Given the description of an element on the screen output the (x, y) to click on. 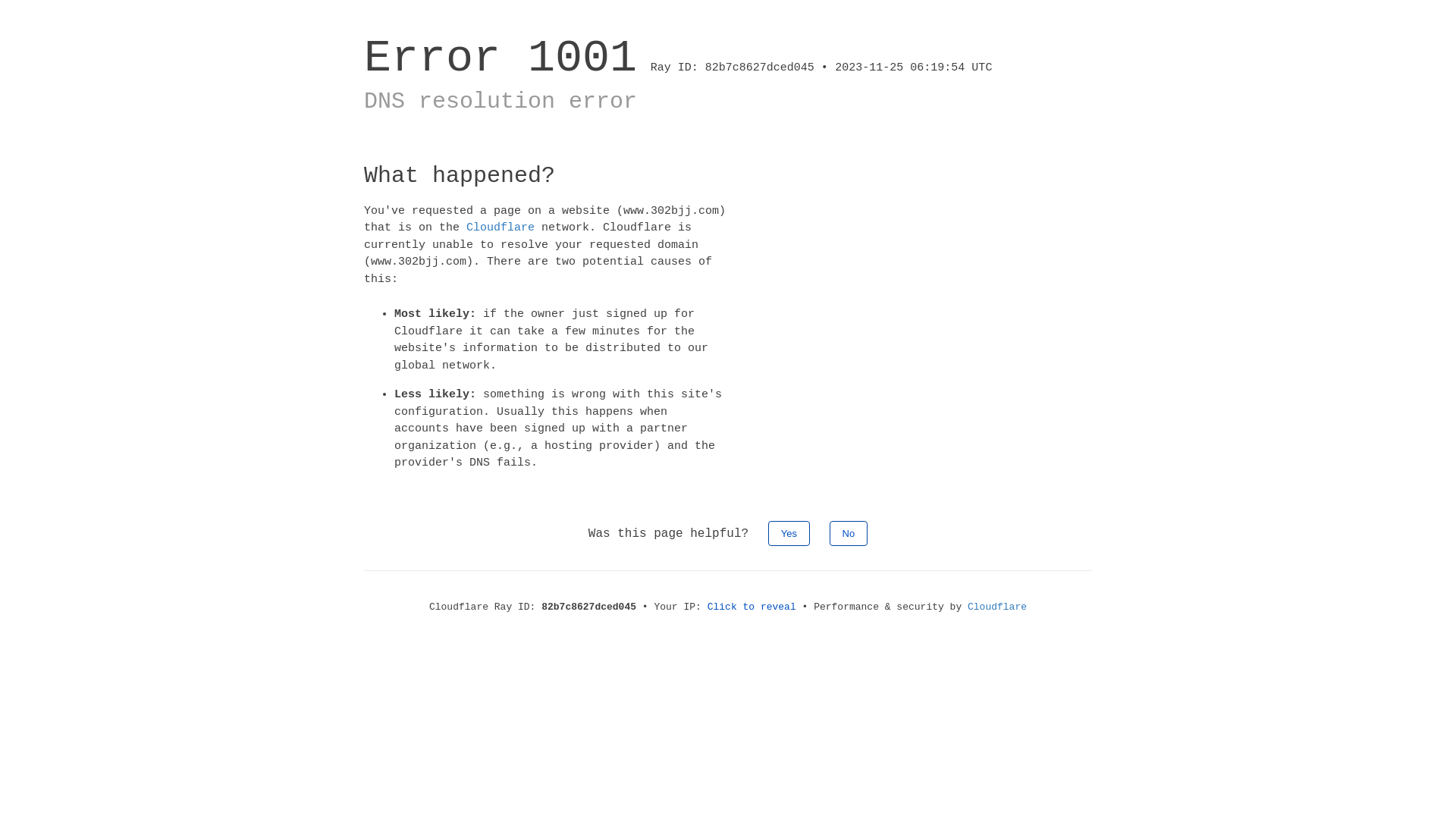
Cloudflare Element type: text (500, 227)
Click to reveal Element type: text (751, 605)
Cloudflare Element type: text (996, 605)
No Element type: text (848, 532)
Yes Element type: text (788, 532)
